Given the description of an element on the screen output the (x, y) to click on. 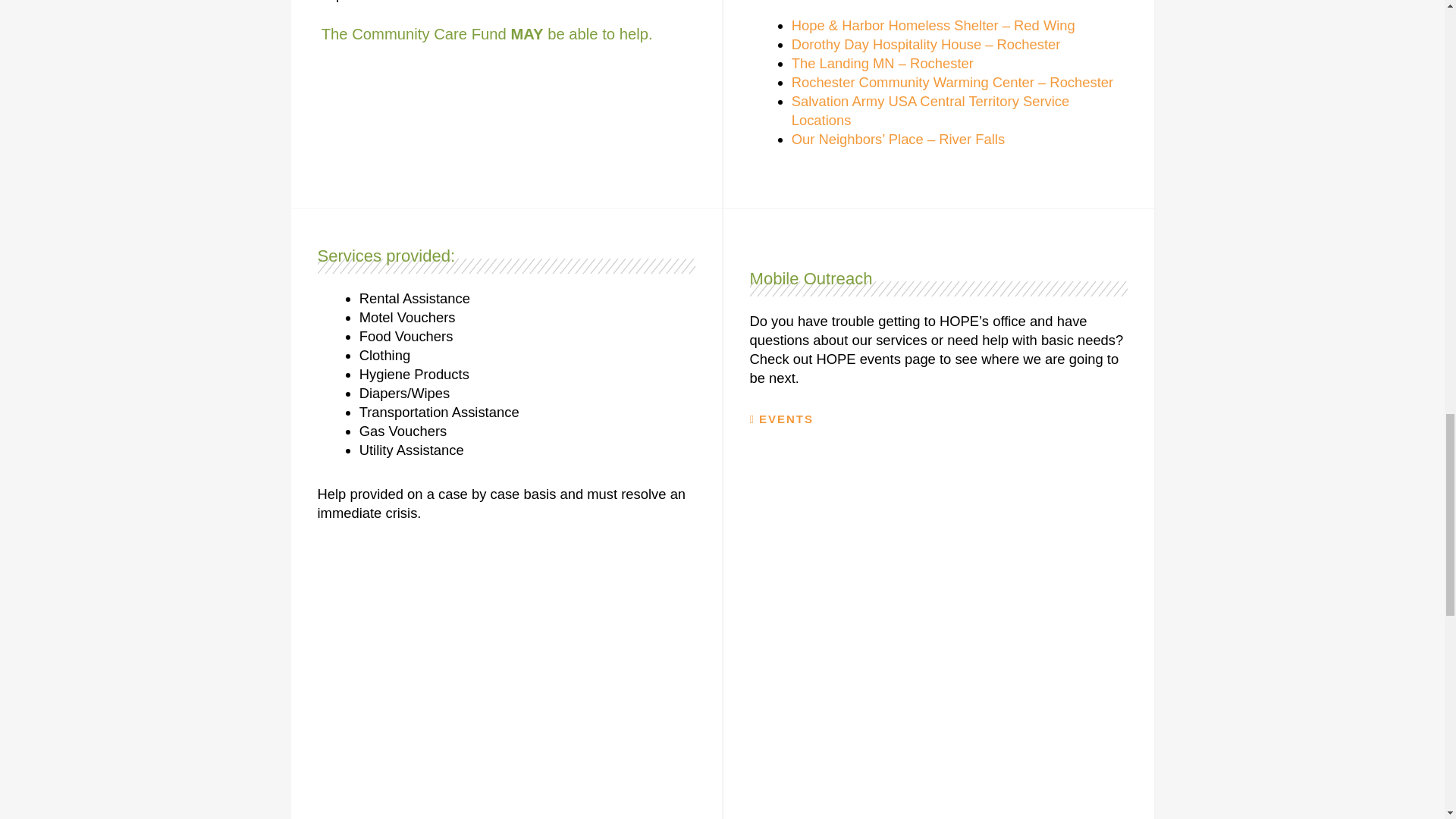
Salvation Army USA Central Territory Service Locations (931, 110)
Mobile Outreach (810, 278)
EVENTS (781, 419)
